Given the description of an element on the screen output the (x, y) to click on. 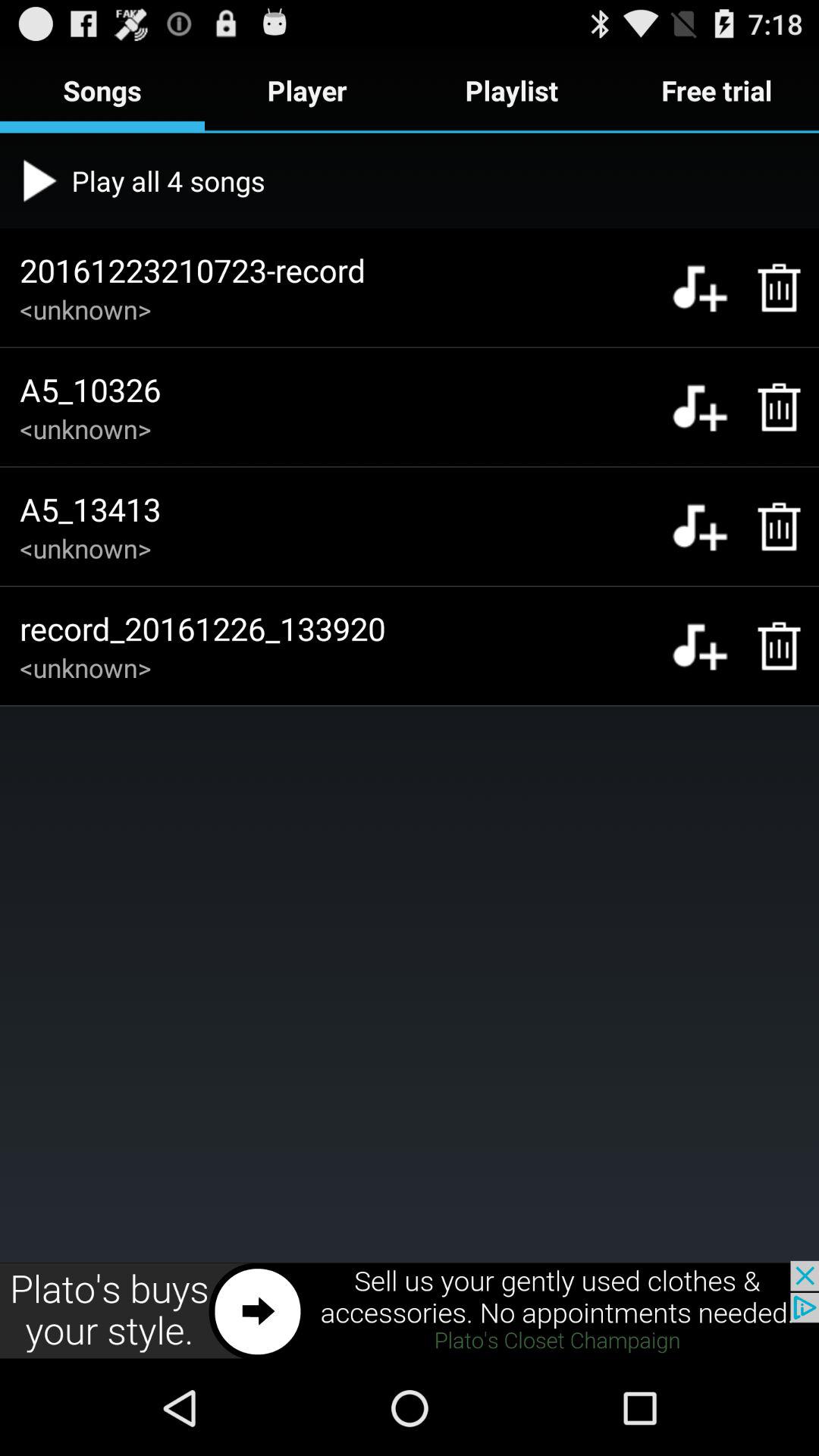
add option (699, 407)
